Given the description of an element on the screen output the (x, y) to click on. 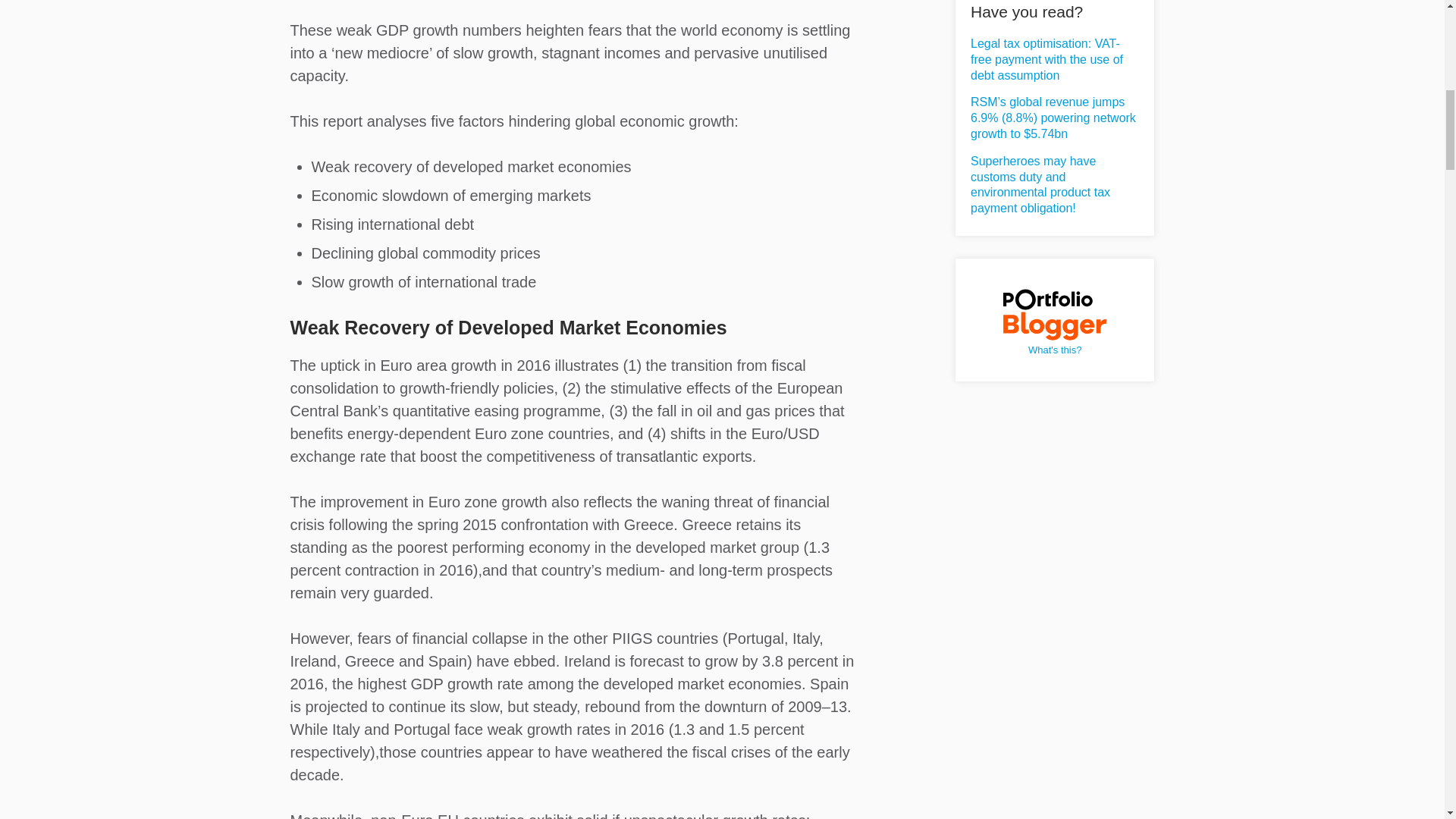
Portfolio Blogger (1054, 314)
